Given the description of an element on the screen output the (x, y) to click on. 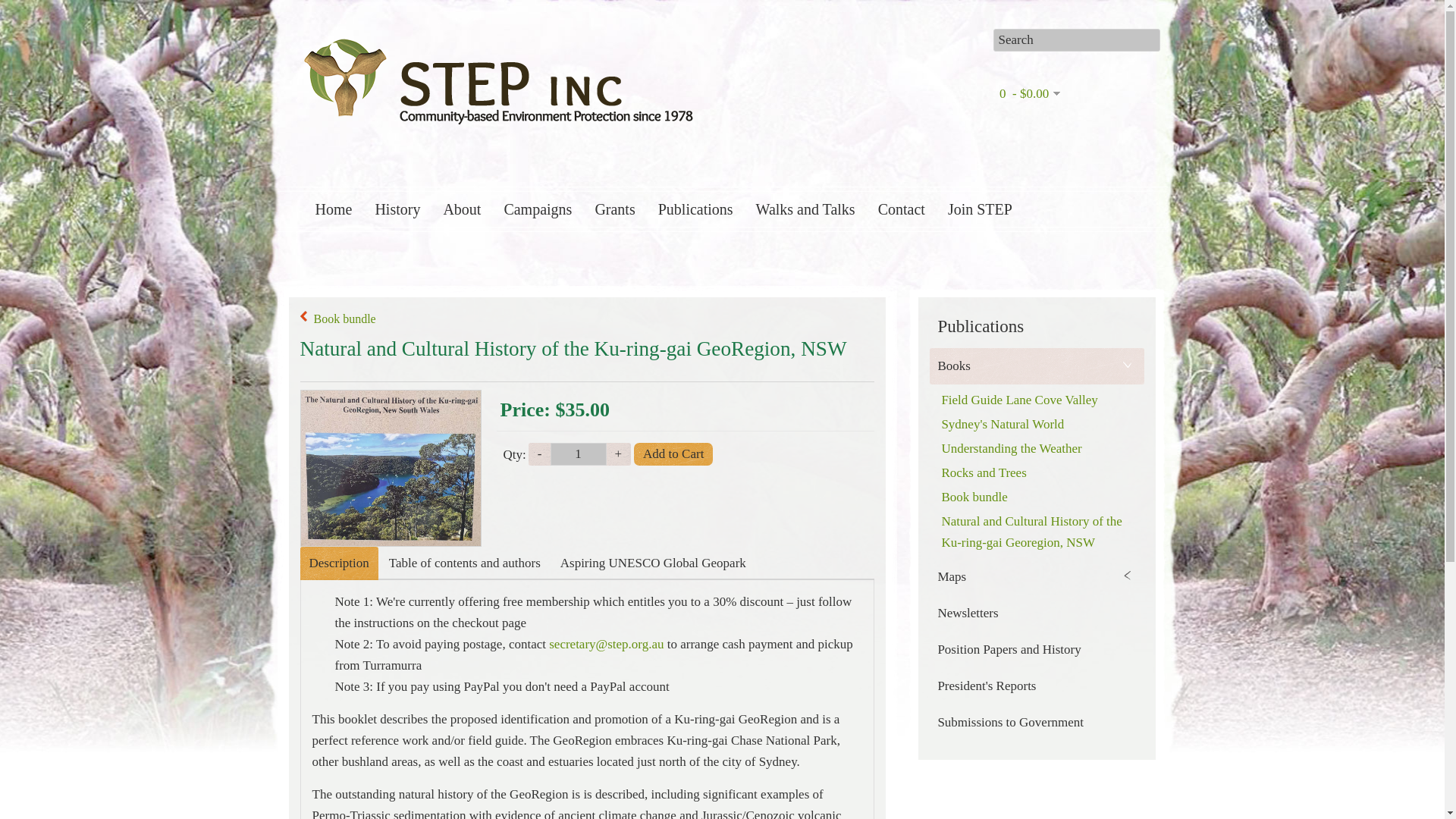
Aspiring UNESCO Global Geopark (653, 563)
Book bundle (337, 319)
1 (578, 454)
Table of contents and authors (465, 563)
